Given the description of an element on the screen output the (x, y) to click on. 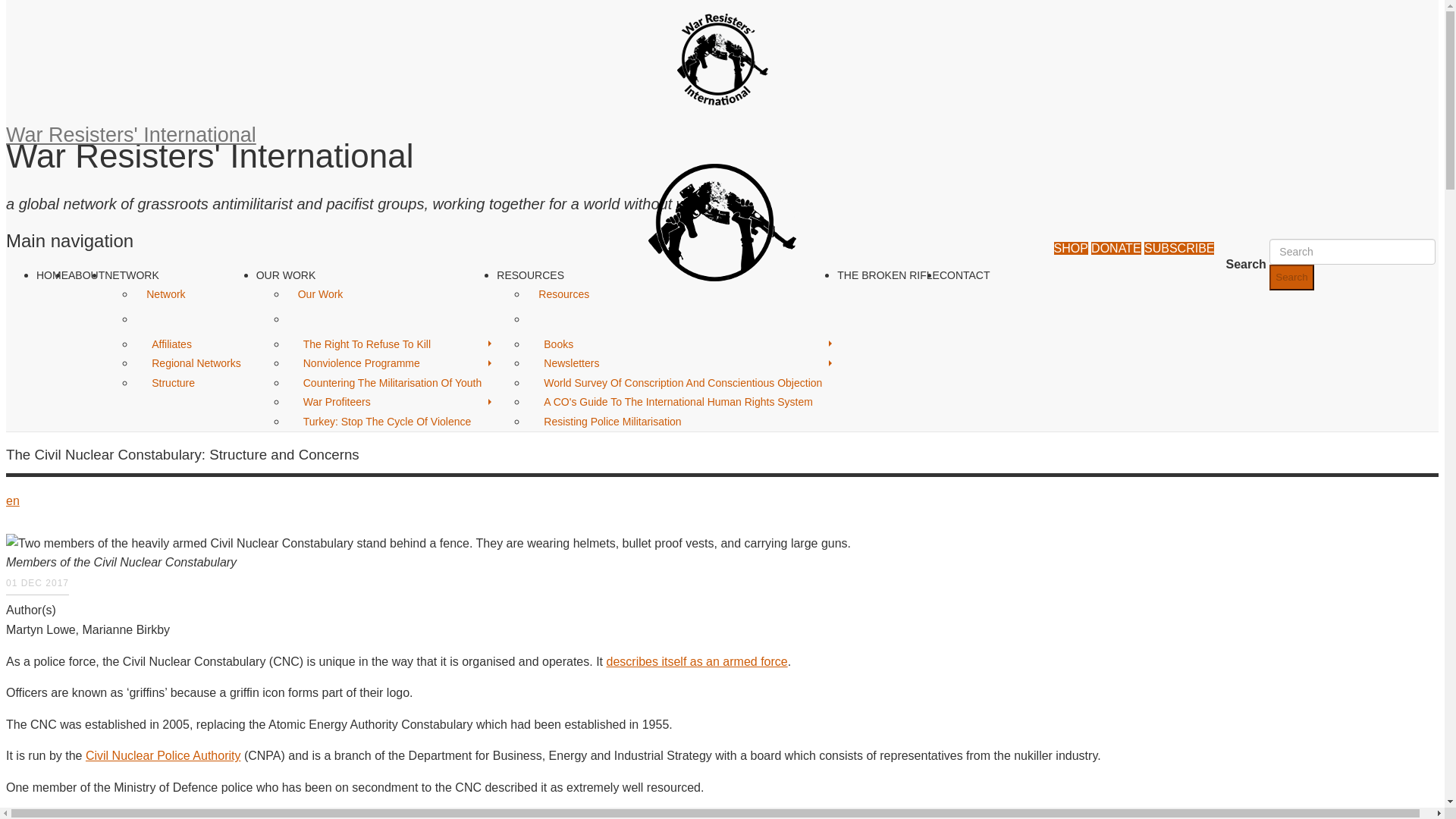
Turkey: Stop The Cycle Of Violence (386, 421)
About (86, 274)
SUBSCRIBE (1179, 247)
Our work (285, 274)
SHOP (1070, 247)
Structure (172, 382)
War Profiteers (335, 401)
Search (1291, 277)
Nonviolence Programme (360, 362)
